Given the description of an element on the screen output the (x, y) to click on. 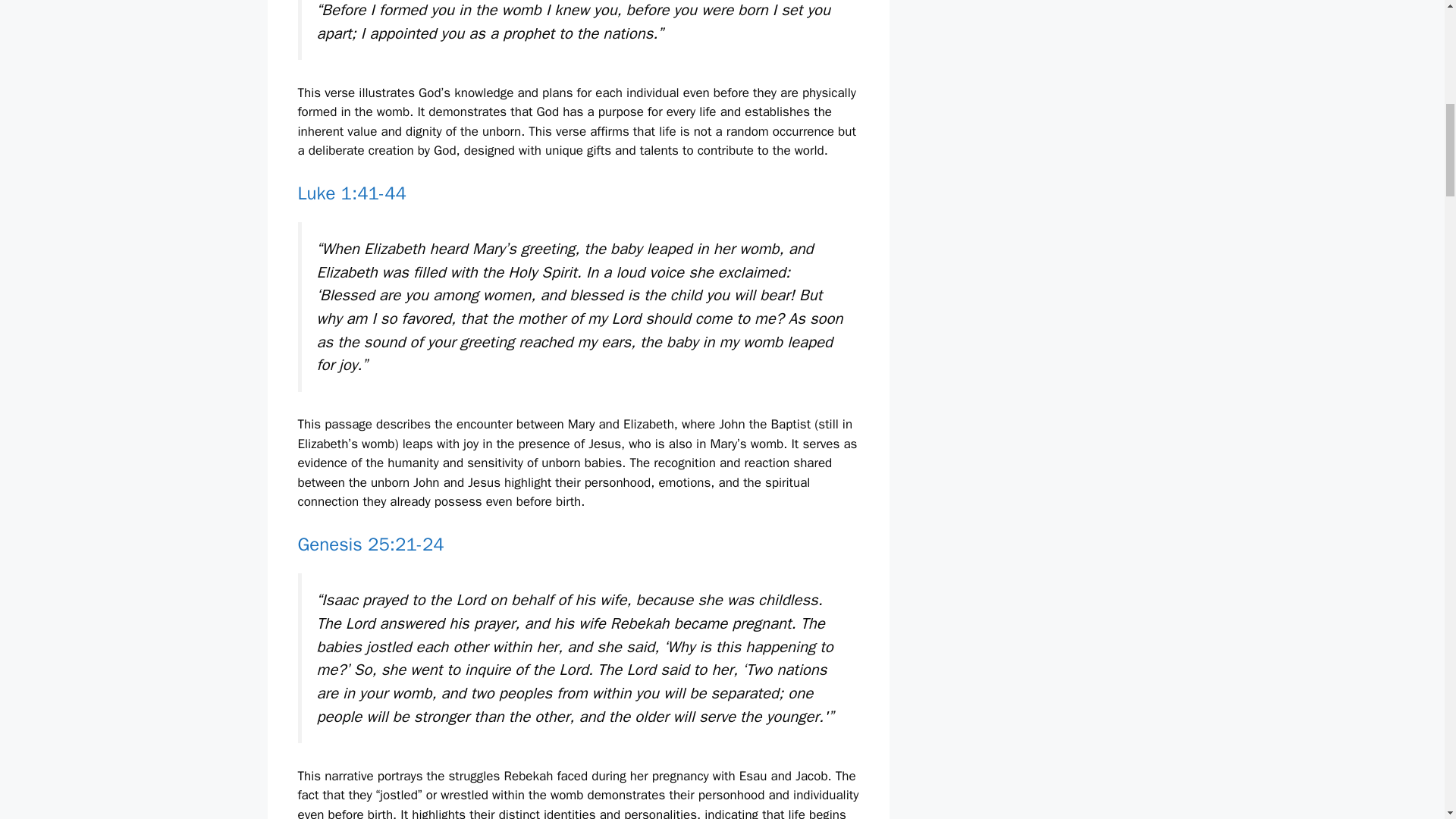
Luke 1:41-44 (351, 192)
Genesis 25:21-24 (370, 544)
